Given the description of an element on the screen output the (x, y) to click on. 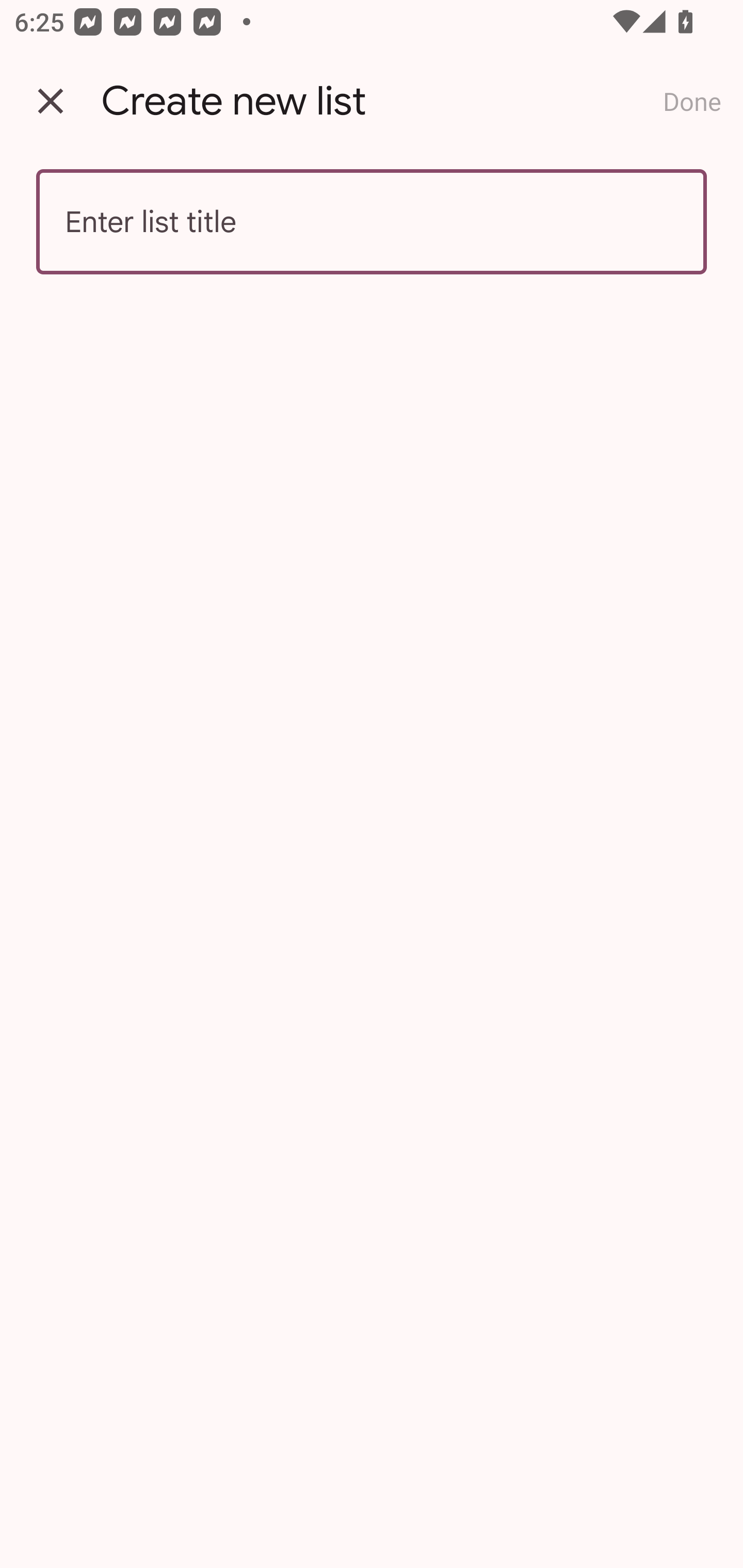
Back (50, 101)
Done (692, 101)
Enter list title (371, 221)
